Given the description of an element on the screen output the (x, y) to click on. 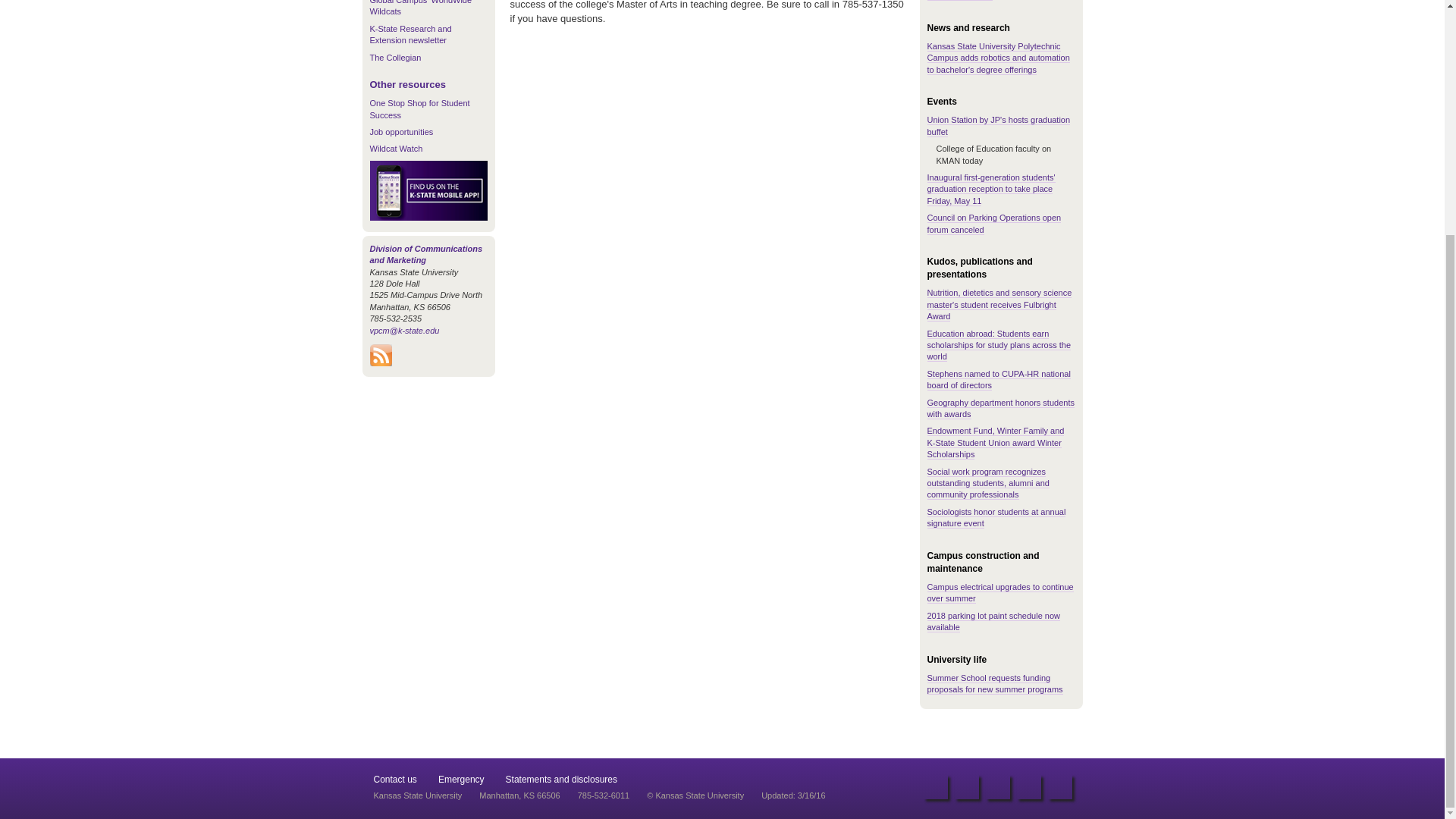
One Stop Shop for Student Success (419, 108)
Global Campus' WorldWide Wildcats (420, 7)
The planned paint date is listed as well as a rain date. (992, 621)
Division of Communications and Marketing (426, 254)
